Given the description of an element on the screen output the (x, y) to click on. 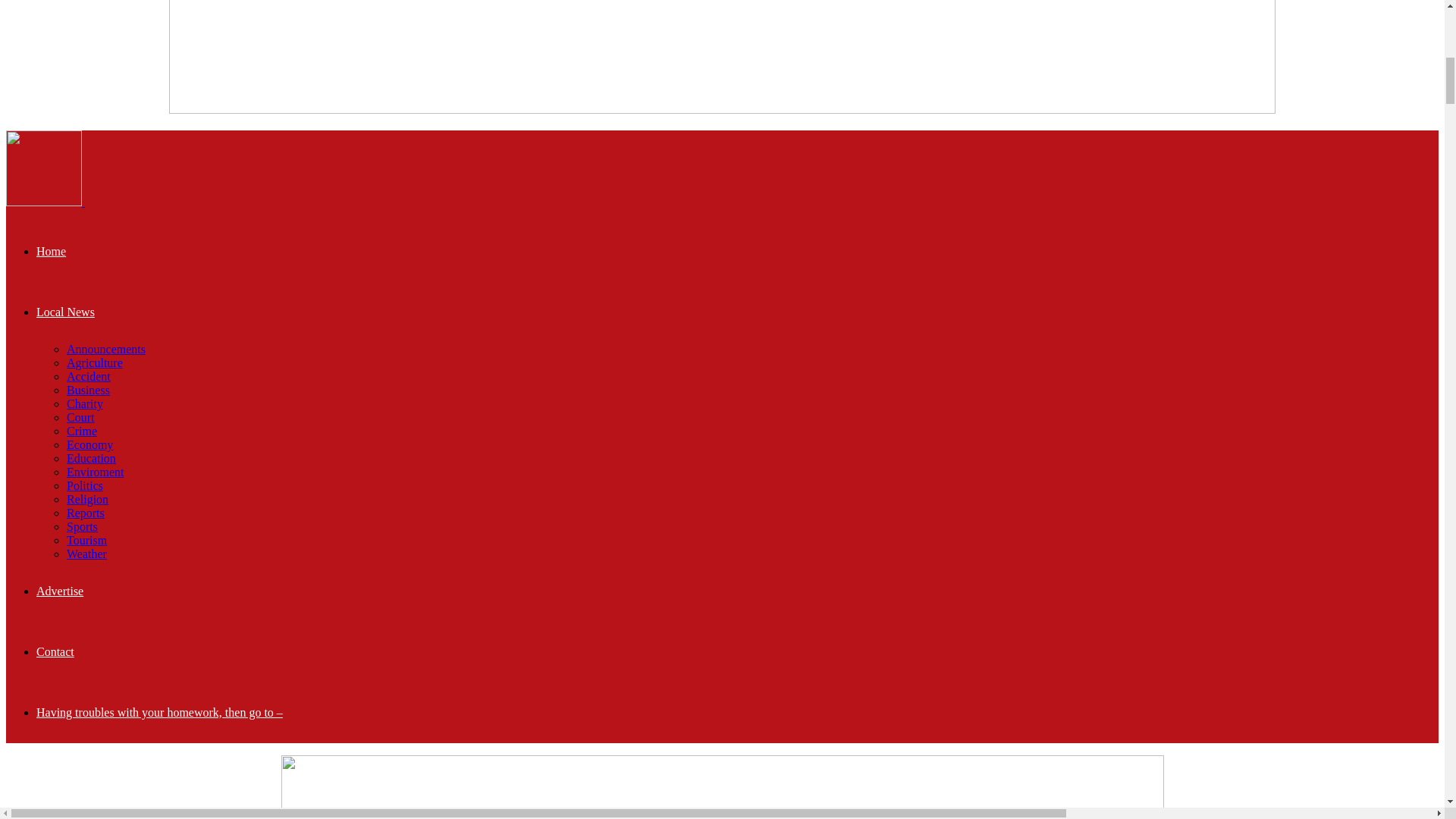
Home (50, 250)
Announcements (105, 349)
Local News (65, 311)
